Given the description of an element on the screen output the (x, y) to click on. 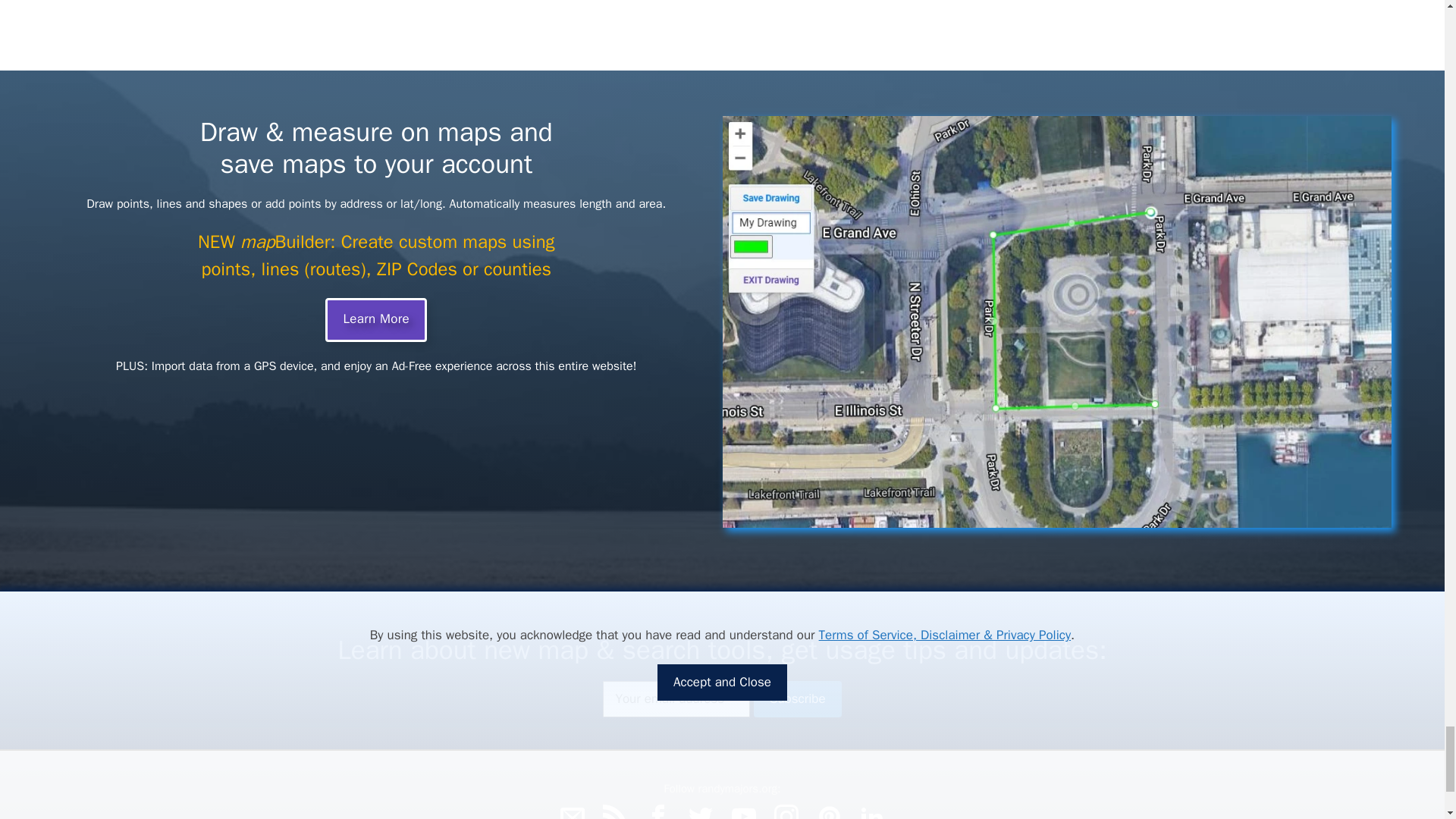
Follow randymajors.org Research Hub on LinkedIn (871, 811)
Follow randymajors.org Research Hub on Facebook (657, 811)
Follow randymajors.org Research Hub on Instagram (785, 811)
Learn More (375, 320)
Follow randymajors.org Research Hub on Pinterest (828, 811)
Subscribe to randymajors.org Research Hub updates by email (572, 811)
Follow Randy Majors on Twitter (700, 811)
Subscribe to randymajors.org Research Hub updates by RSS (614, 811)
Follow Randy Majors on YouTube (743, 811)
